Given the description of an element on the screen output the (x, y) to click on. 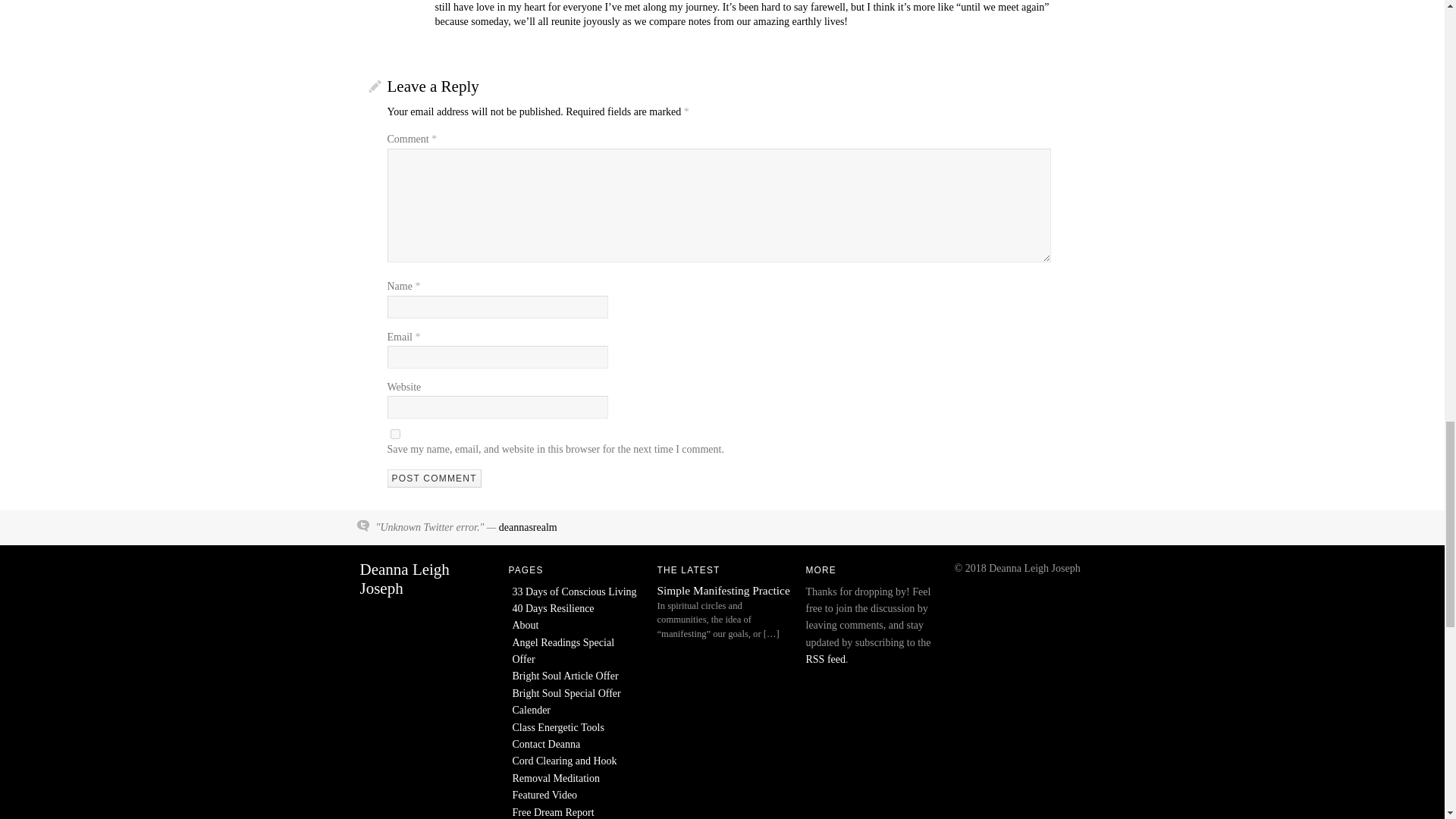
Featured Video (545, 794)
Cord Clearing and Hook Removal Meditation (564, 768)
Bright Soul Article Offer (565, 675)
About (525, 624)
Bright Soul Special Offer (566, 693)
Contact Deanna (546, 744)
yes (394, 433)
Post Comment (433, 478)
Angel Readings Special Offer (563, 651)
Post Comment (433, 478)
Deanna Leigh Joseph (403, 578)
Home (403, 578)
Class Energetic Tools (558, 727)
Calender (531, 709)
deannasrealm (528, 527)
